Given the description of an element on the screen output the (x, y) to click on. 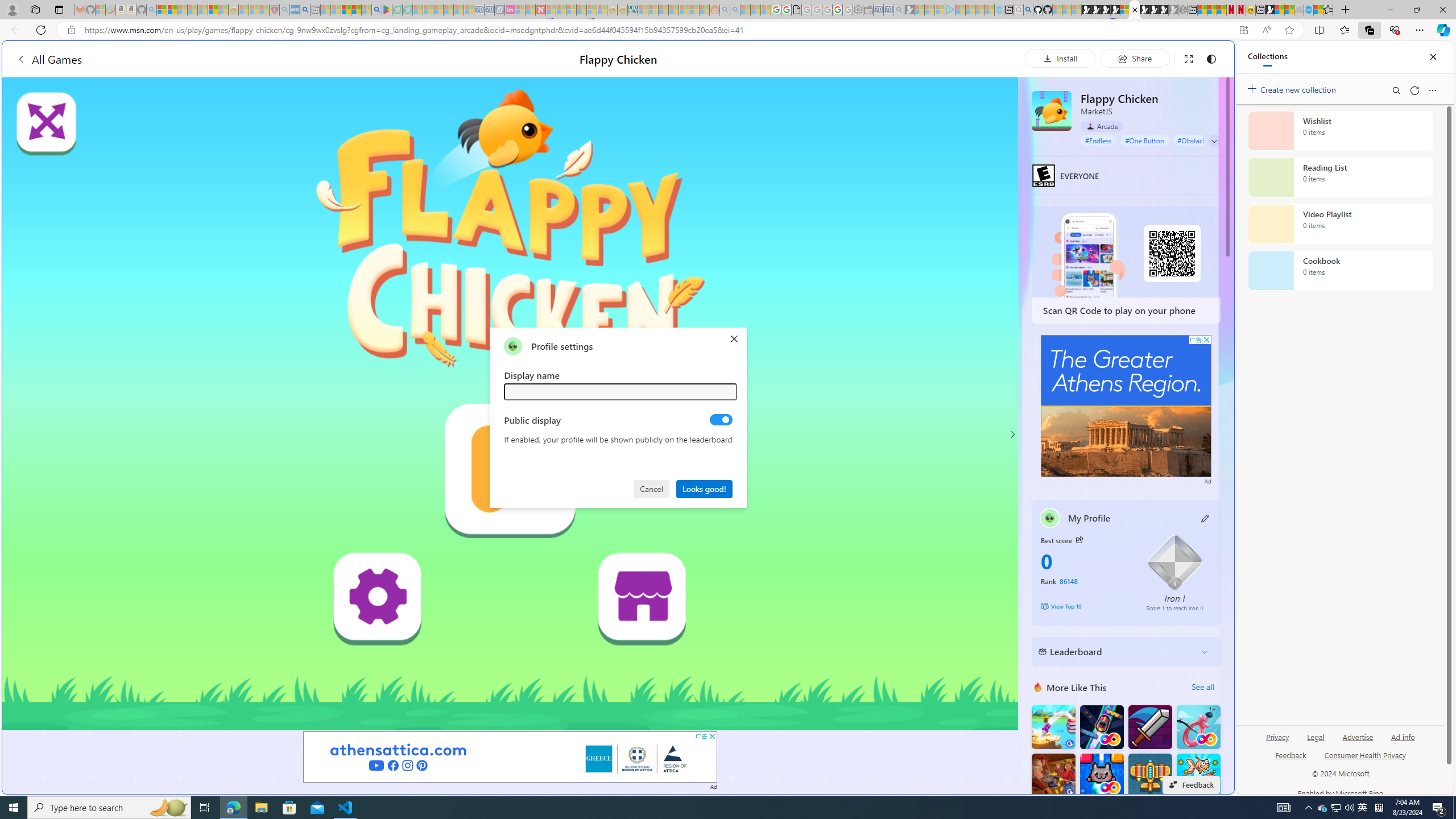
Flappy Chicken (1051, 110)
utah sues federal government - Search (304, 9)
Tabs you've opened (885, 151)
